Given the description of an element on the screen output the (x, y) to click on. 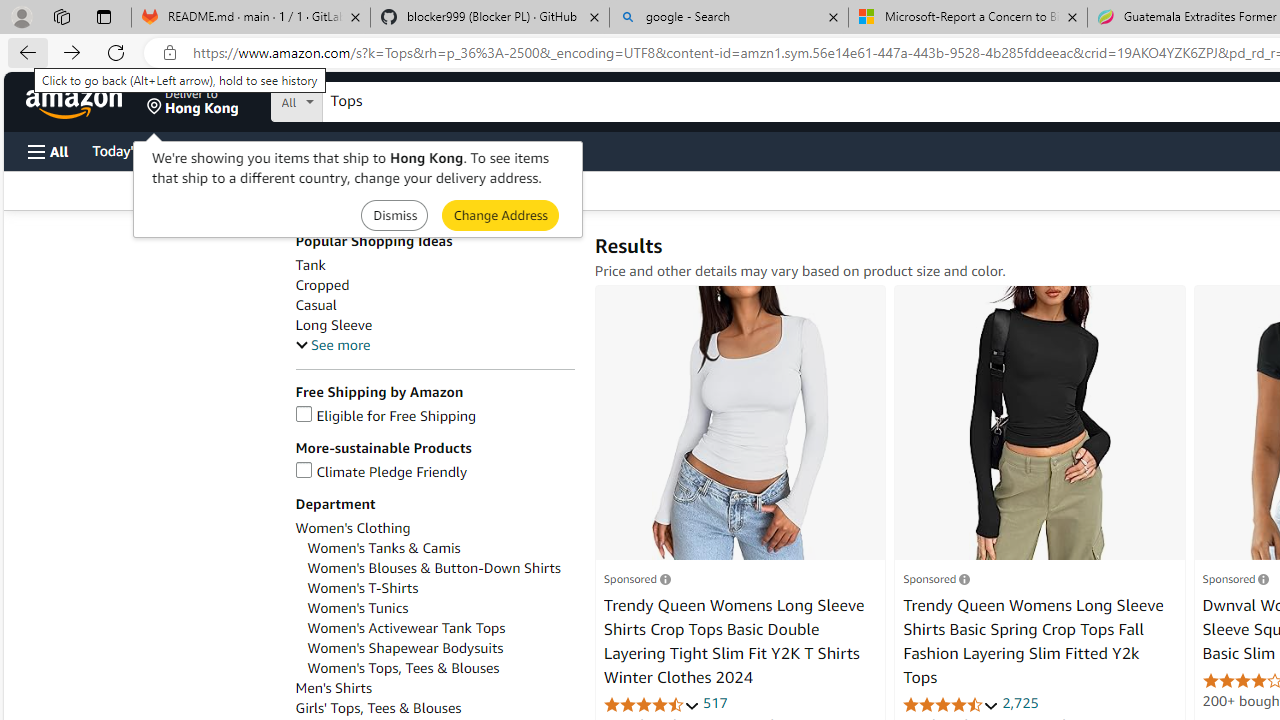
Cropped (434, 285)
Cropped (321, 285)
Women's Tops, Tees & Blouses (440, 668)
Women's Activewear Tank Tops (406, 628)
Women's T-Shirts (440, 588)
Men's Shirts (333, 687)
Women's Tanks & Camis (440, 548)
Casual (315, 305)
Women's Shapewear Bodysuits (440, 648)
